Given the description of an element on the screen output the (x, y) to click on. 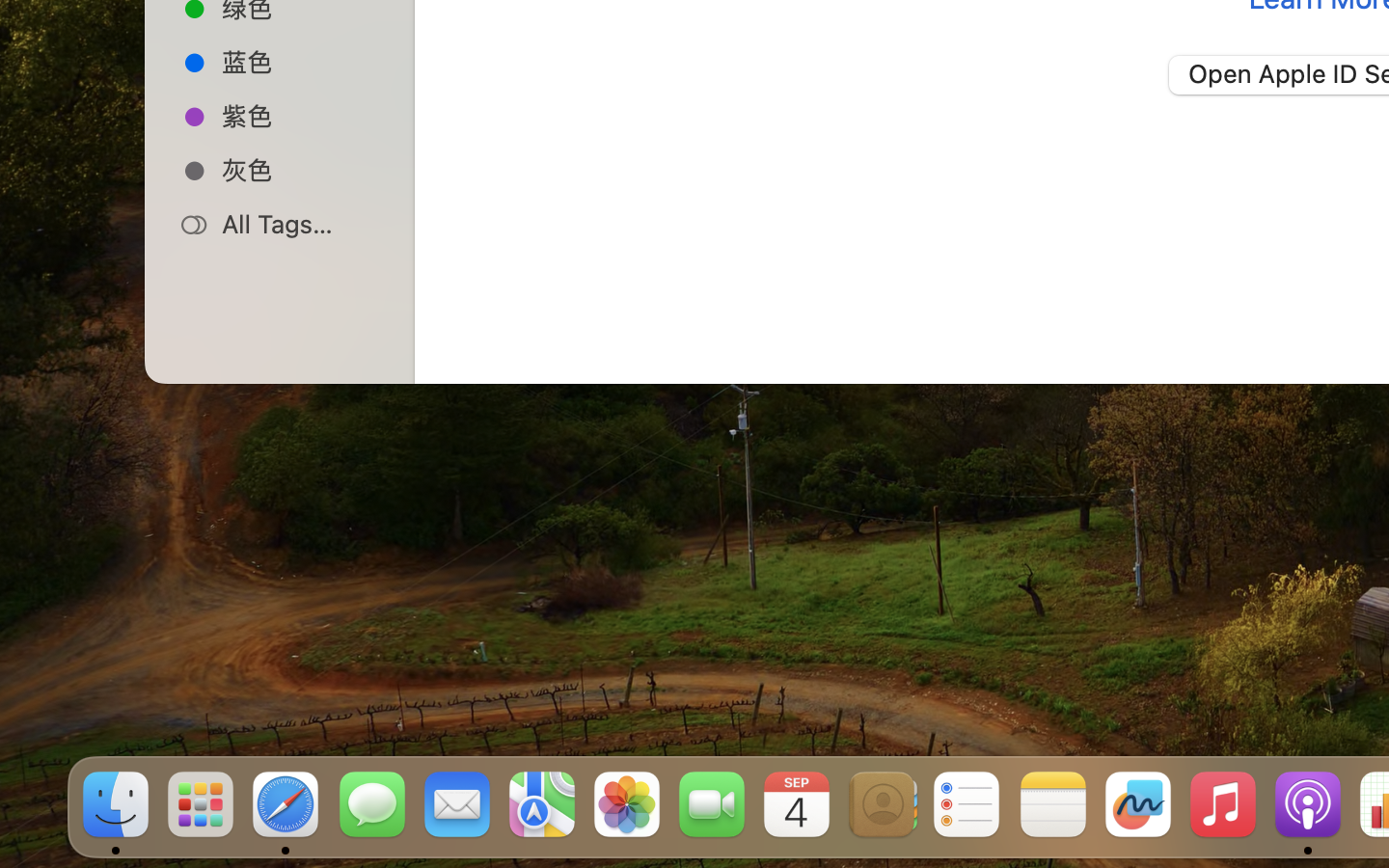
All Tags… Element type: AXStaticText (299, 223)
紫色 Element type: AXStaticText (299, 115)
灰色 Element type: AXStaticText (299, 169)
蓝色 Element type: AXStaticText (299, 61)
